Given the description of an element on the screen output the (x, y) to click on. 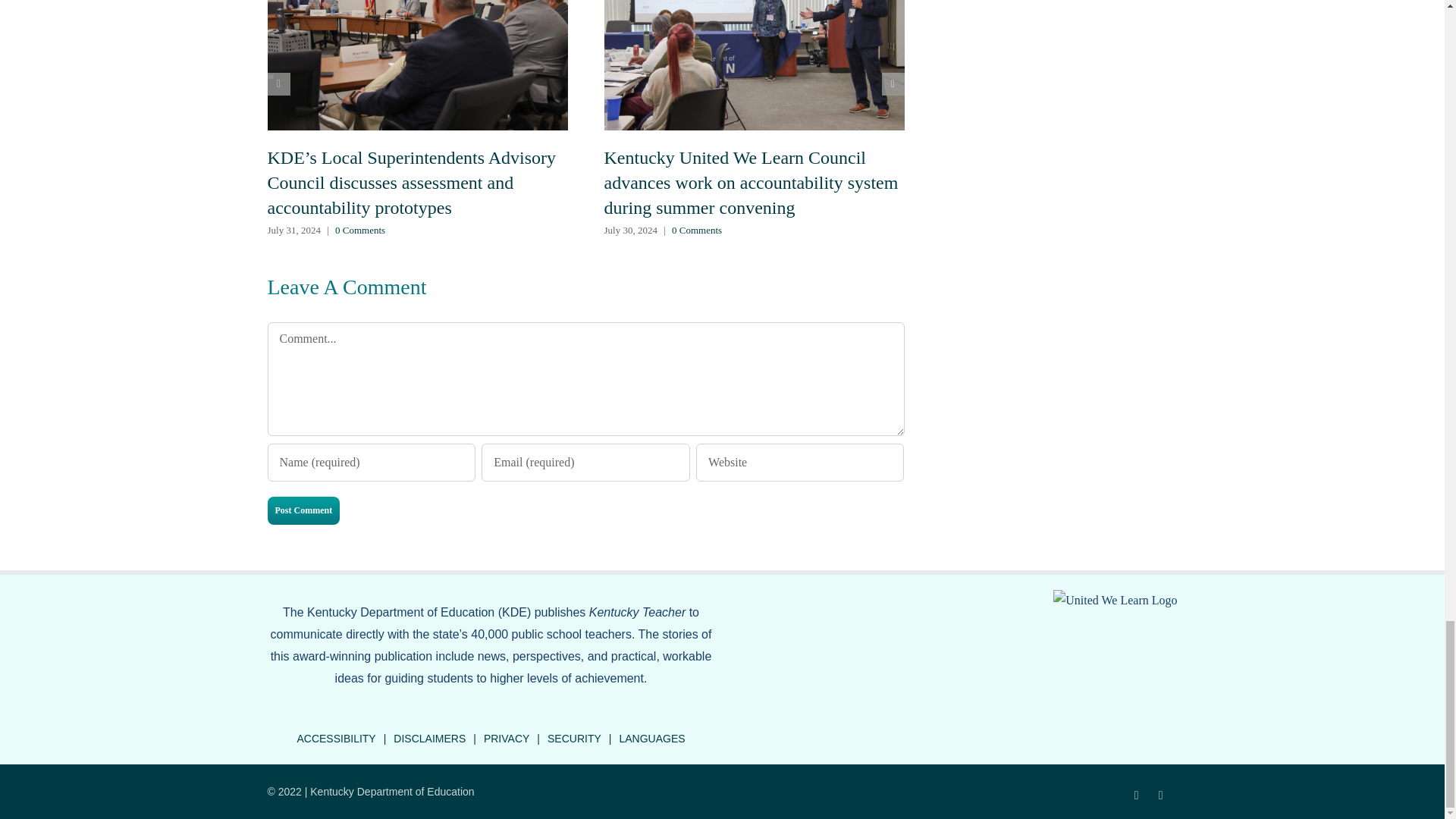
Post Comment (302, 510)
